Given the description of an element on the screen output the (x, y) to click on. 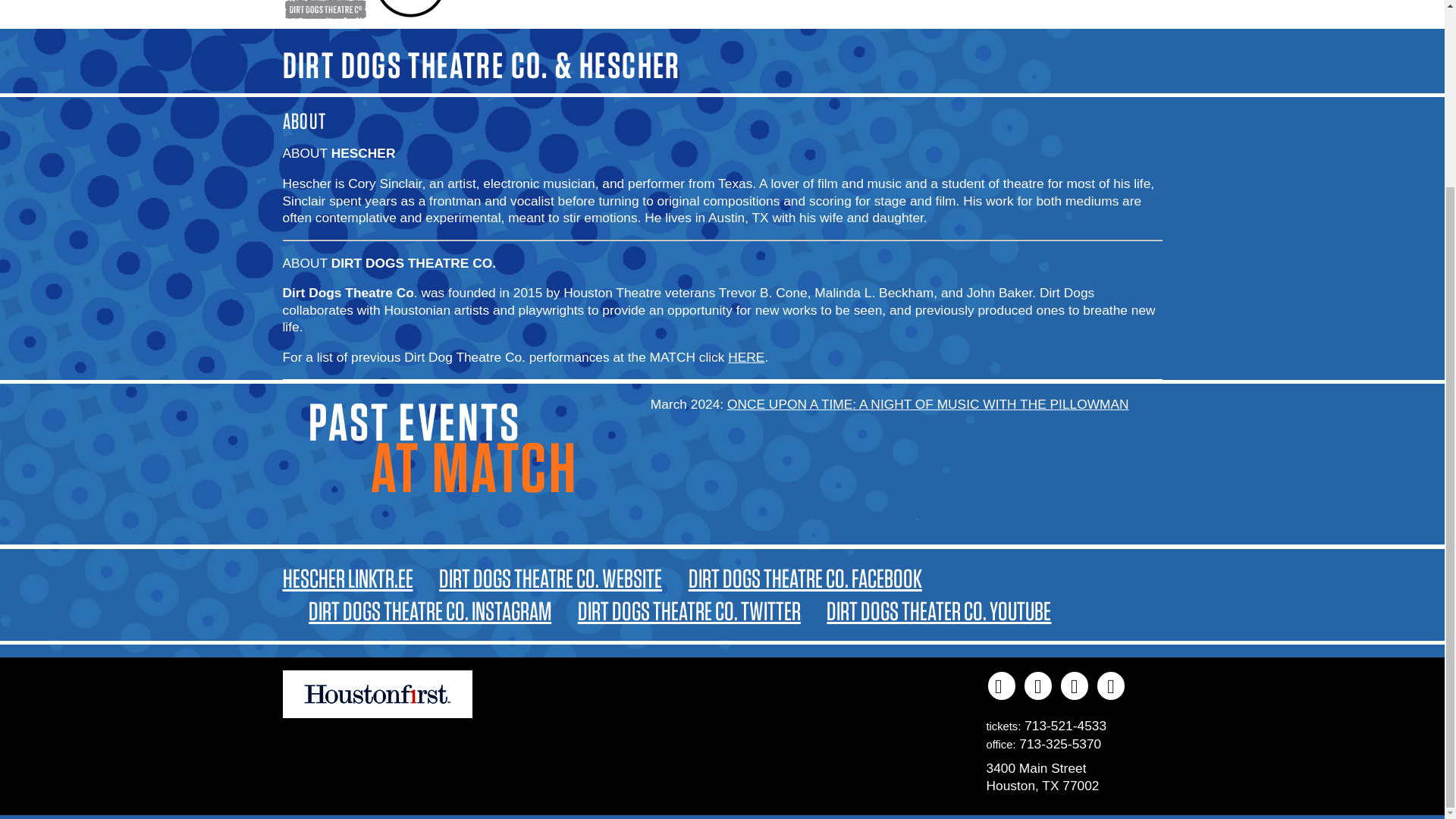
Follow MATCH on Facebook (1000, 685)
Houstonfirst (376, 713)
Houstonfirst (376, 694)
Follow MATCH on Twitter (1074, 685)
